Given the description of an element on the screen output the (x, y) to click on. 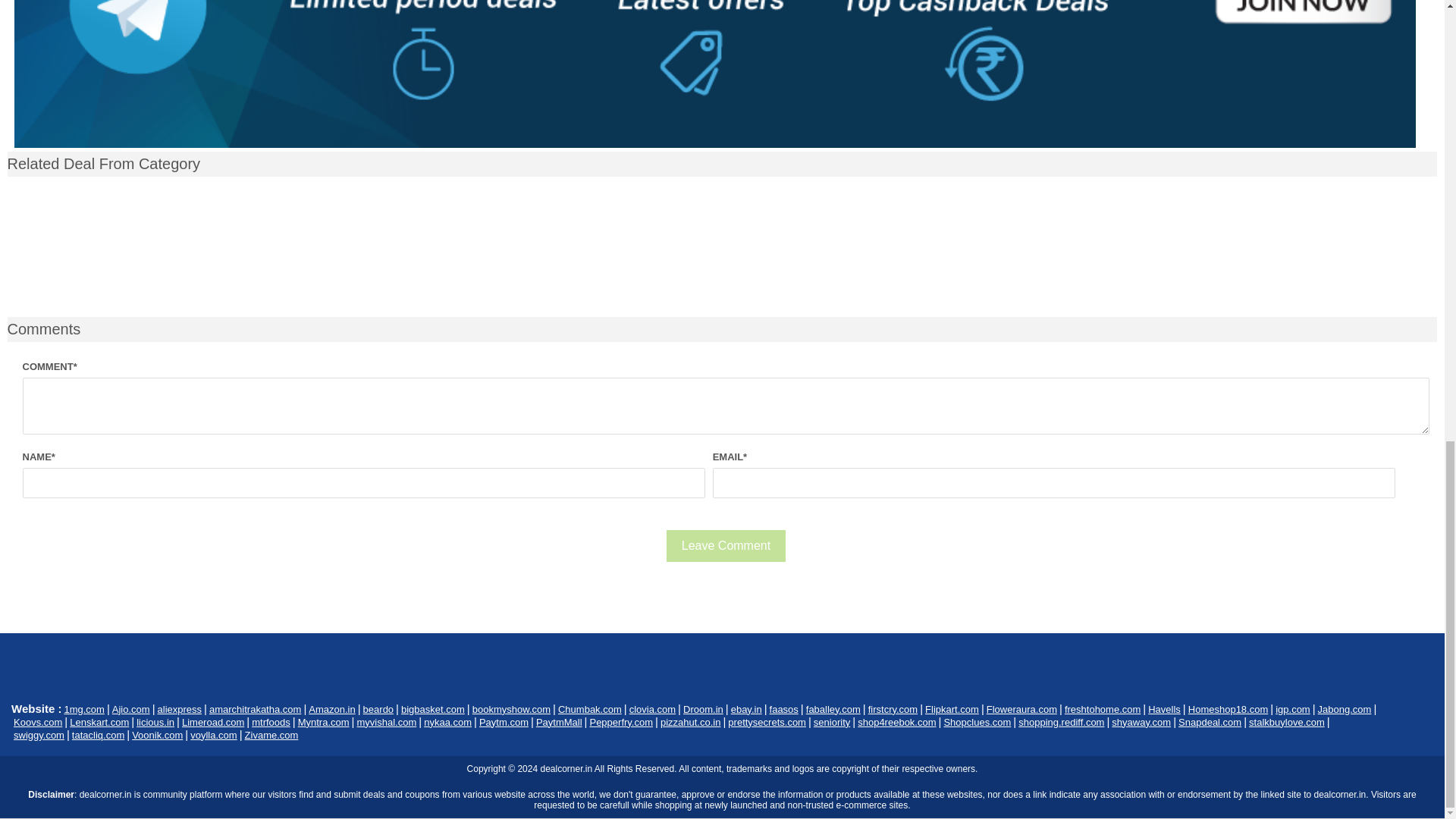
Leave Comment (726, 545)
